Given the description of an element on the screen output the (x, y) to click on. 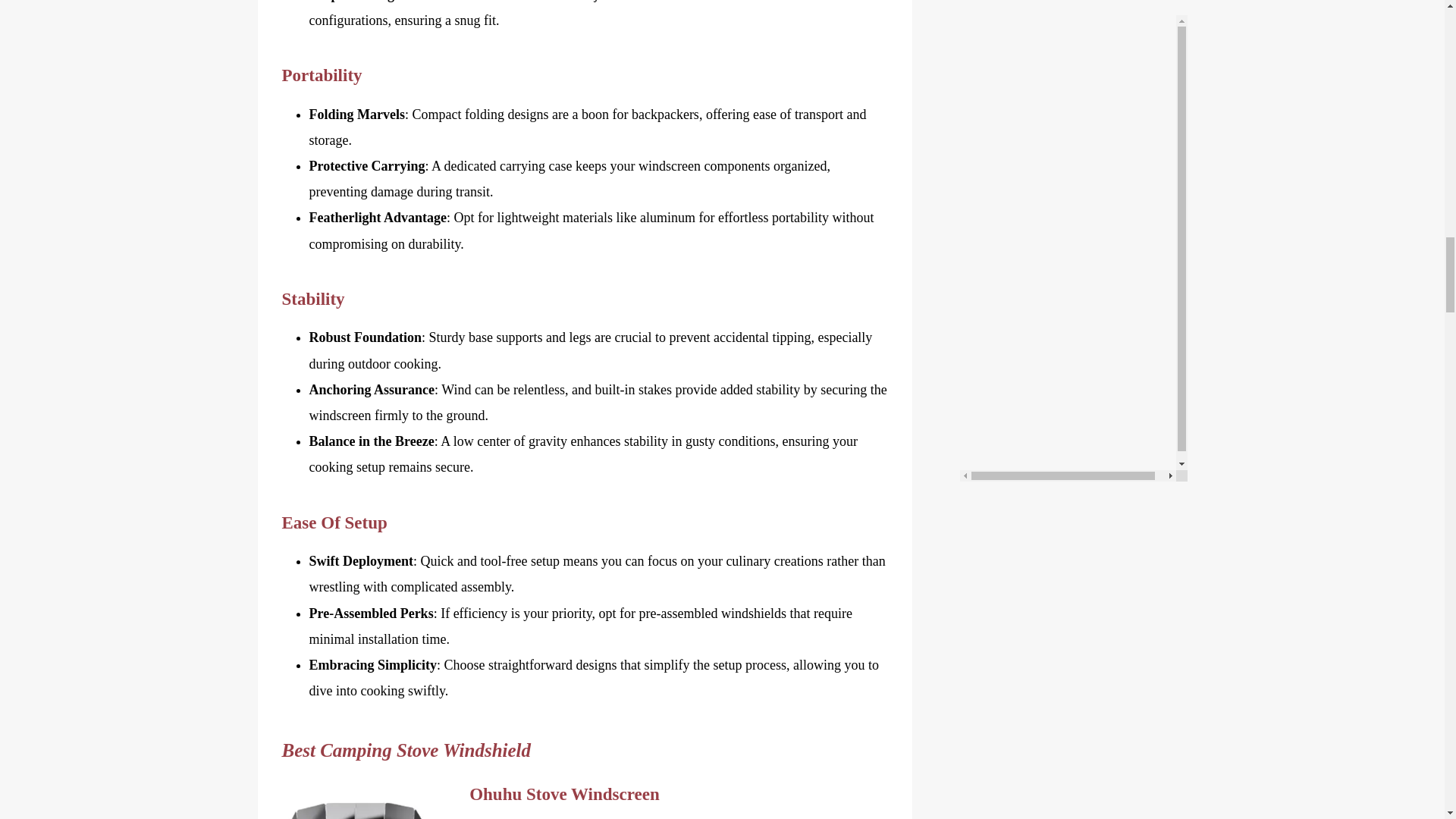
The Best Camping Stove Windshield For Windproof Cooking (357, 803)
